Given the description of an element on the screen output the (x, y) to click on. 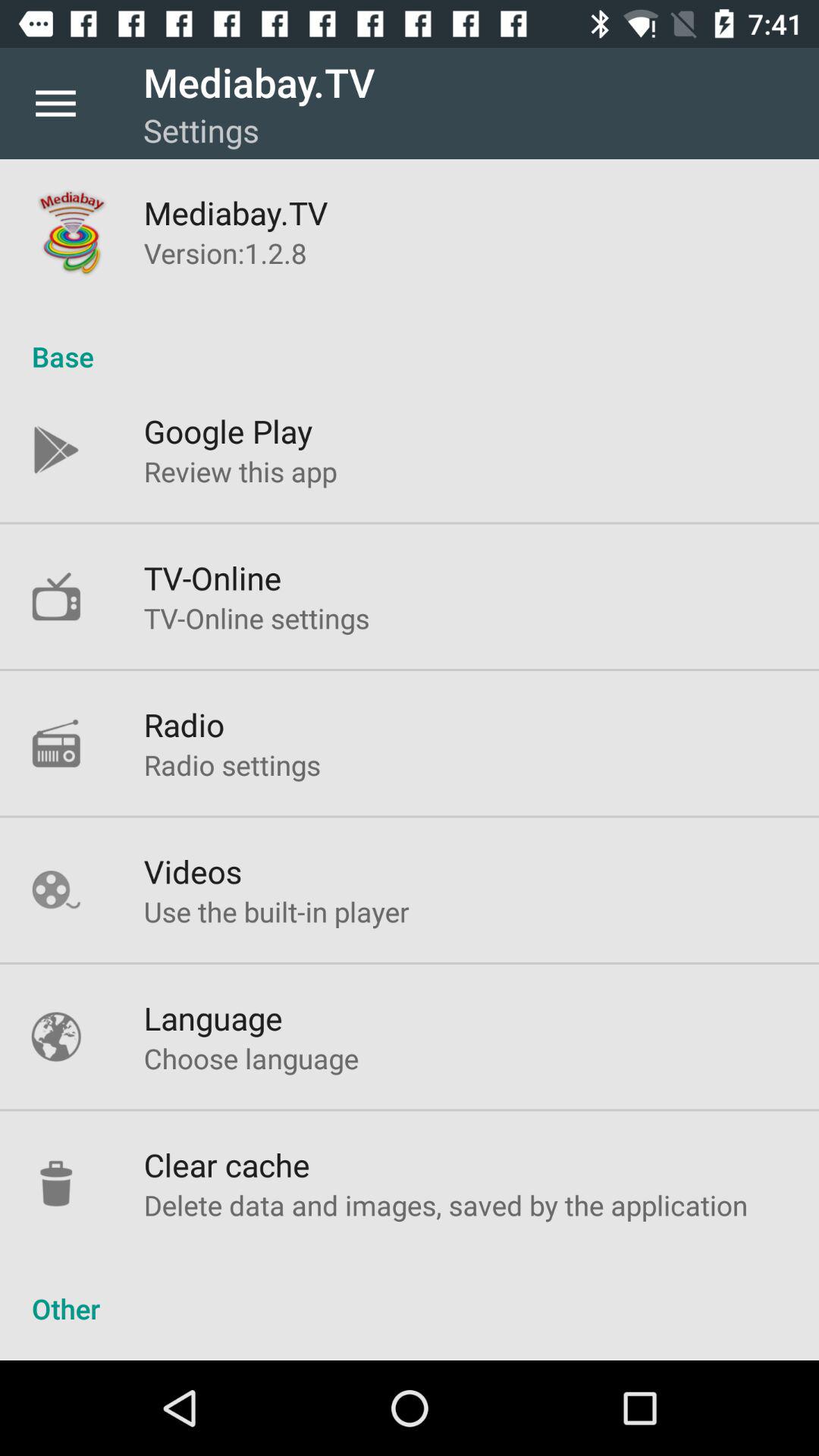
swipe to other item (409, 1292)
